Given the description of an element on the screen output the (x, y) to click on. 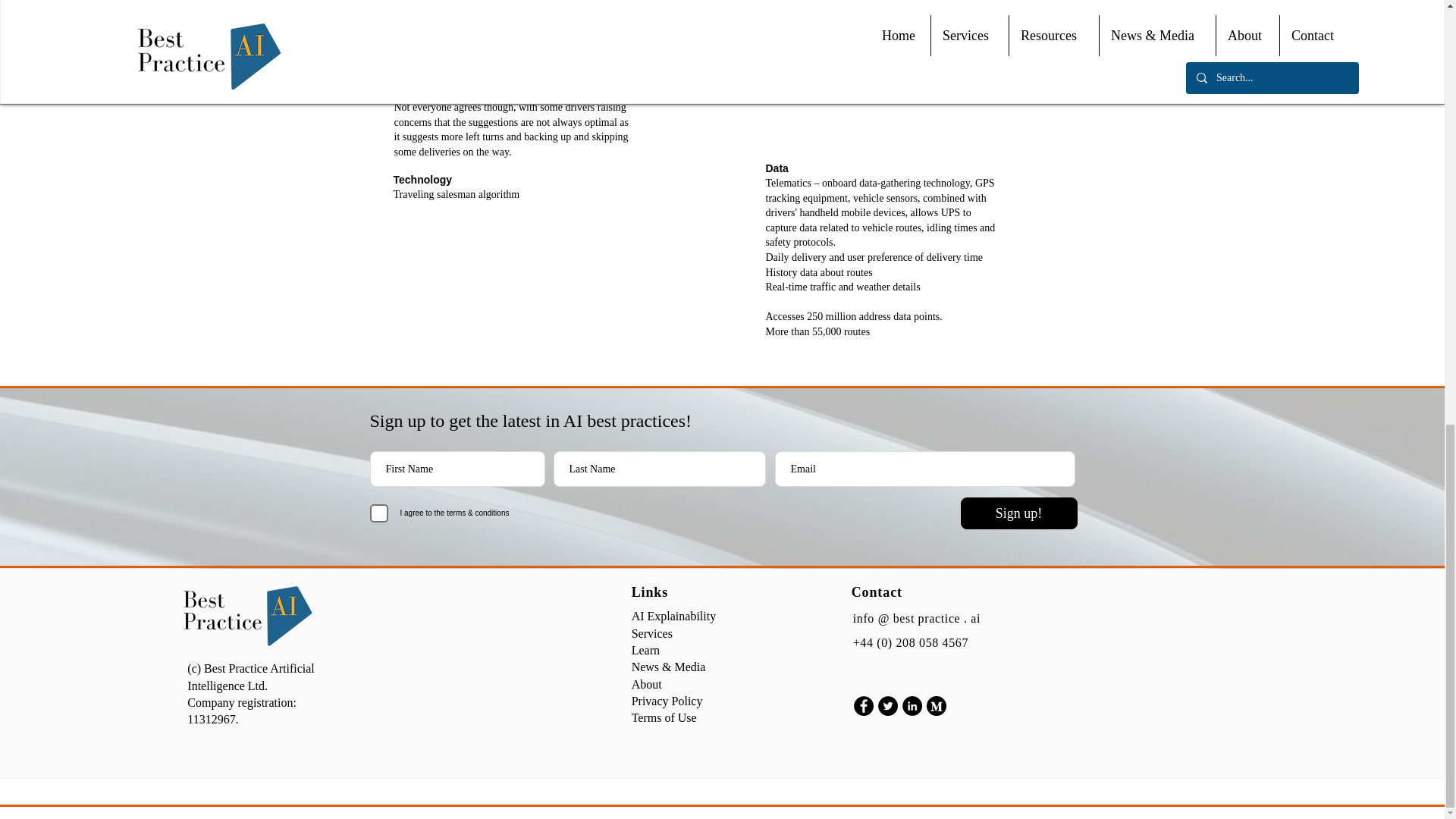
About (646, 684)
AI Explainability (673, 615)
Sign up! (1018, 513)
Learn (645, 649)
Services (651, 633)
Privacy Policy (667, 700)
Terms of Use (664, 717)
Contact (876, 591)
